Given the description of an element on the screen output the (x, y) to click on. 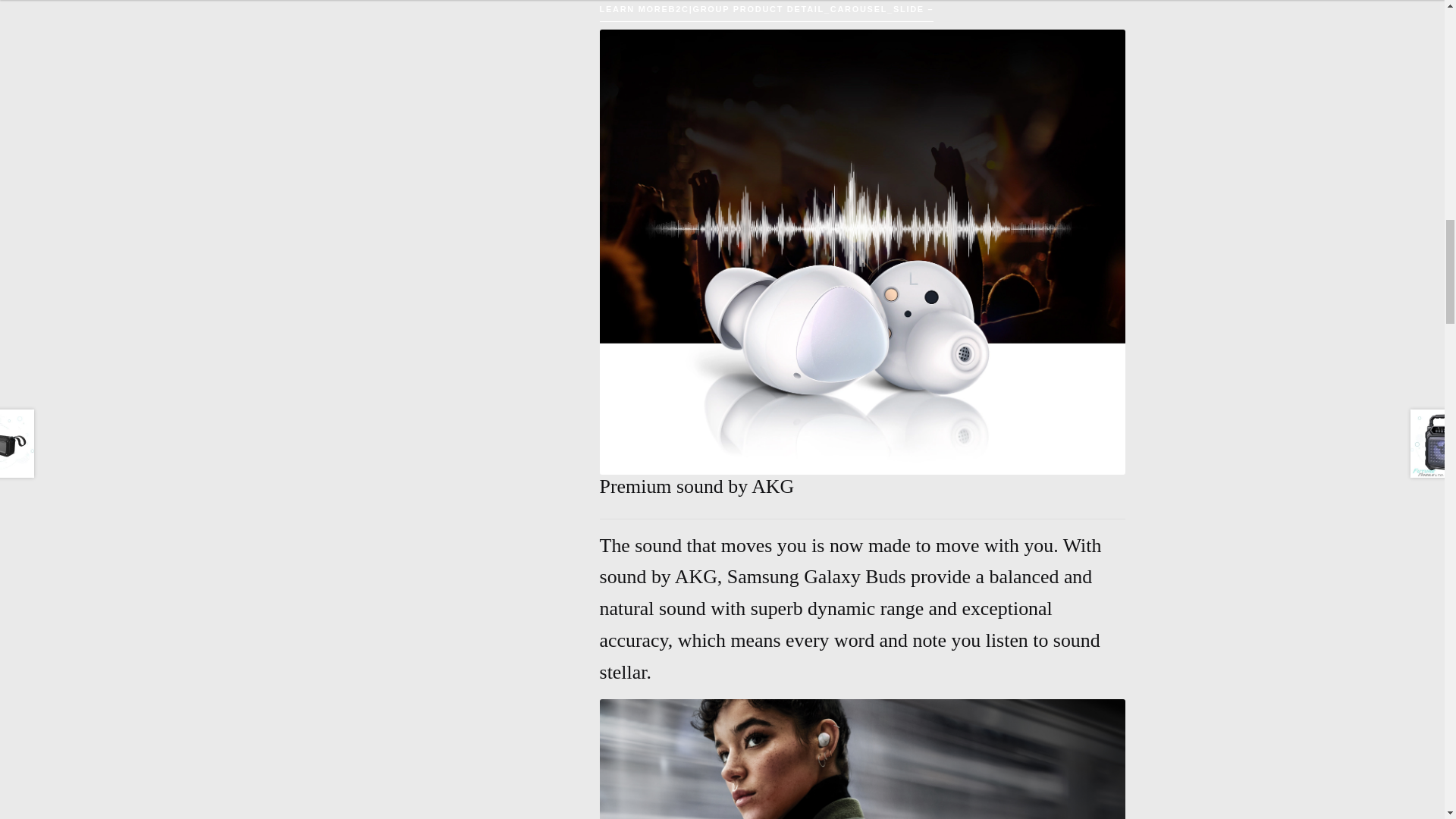
Just what you want to hear (862, 759)
